Given the description of an element on the screen output the (x, y) to click on. 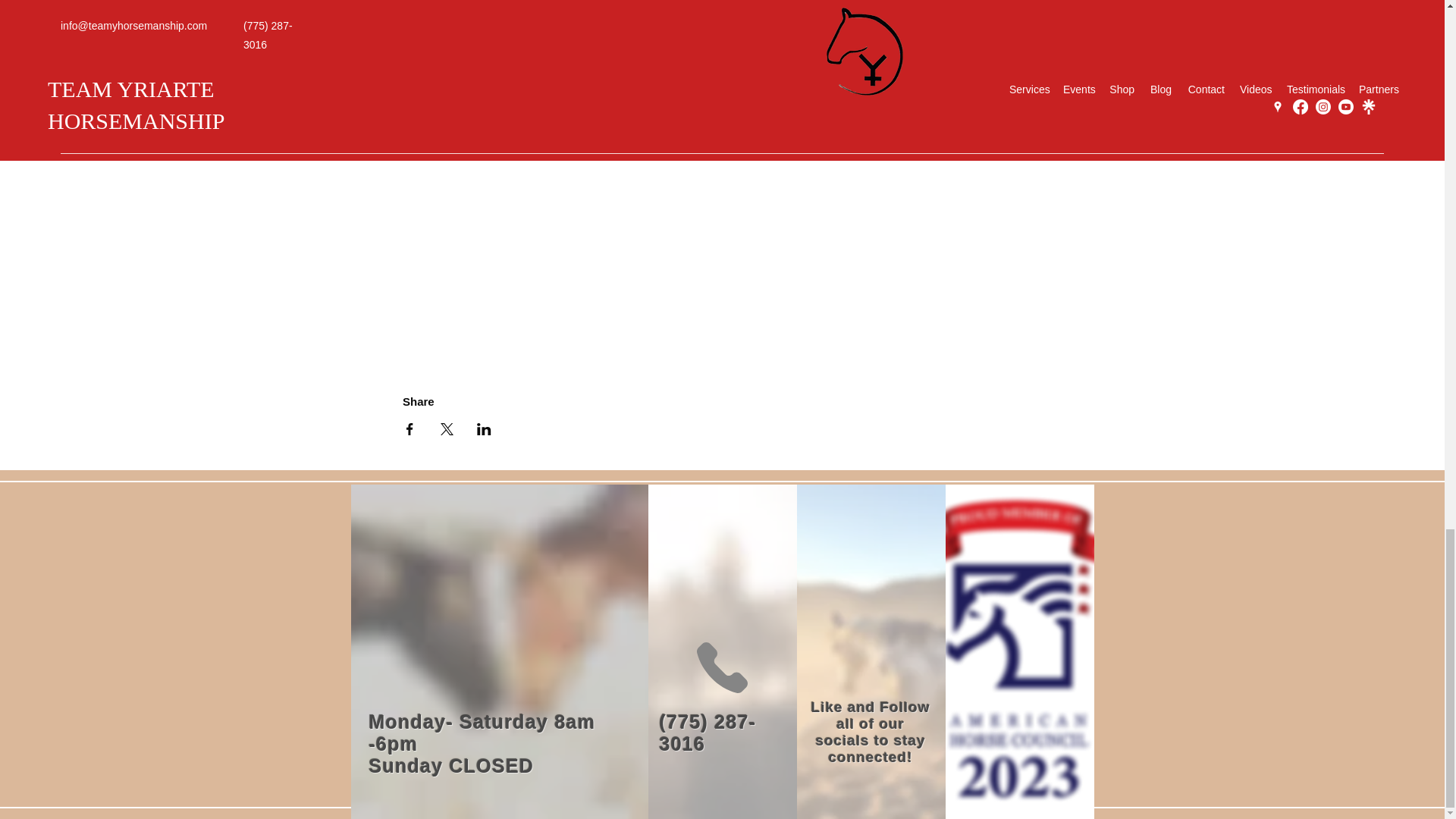
See All (1004, 13)
